Given the description of an element on the screen output the (x, y) to click on. 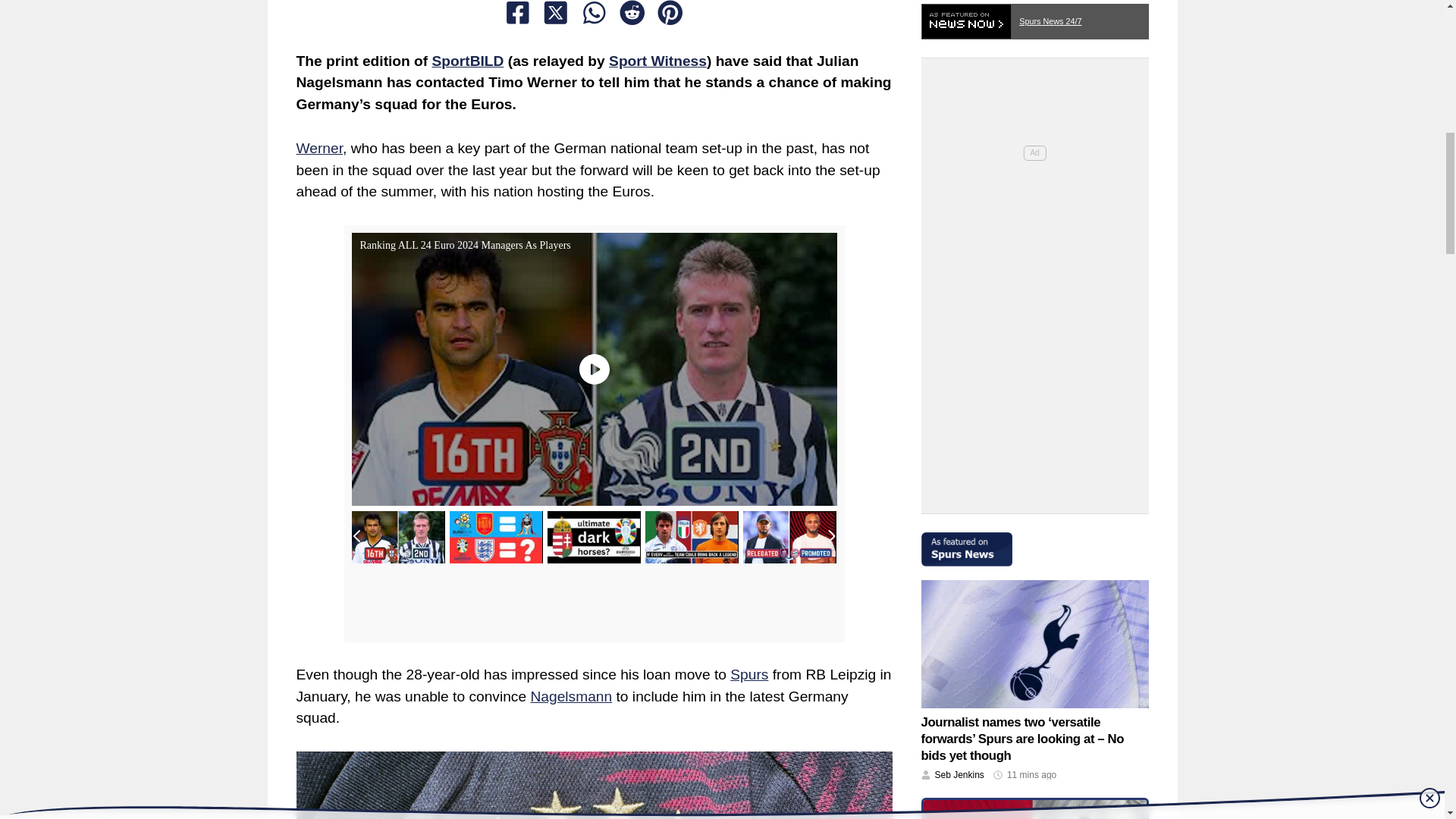
Spurs News (1034, 542)
SportBILD (467, 60)
Nagelsmann (570, 696)
Spurs (749, 674)
Sport Witness (657, 60)
Werner (318, 148)
Click here for more Spurs news from NewsNow (1034, 16)
